Given the description of an element on the screen output the (x, y) to click on. 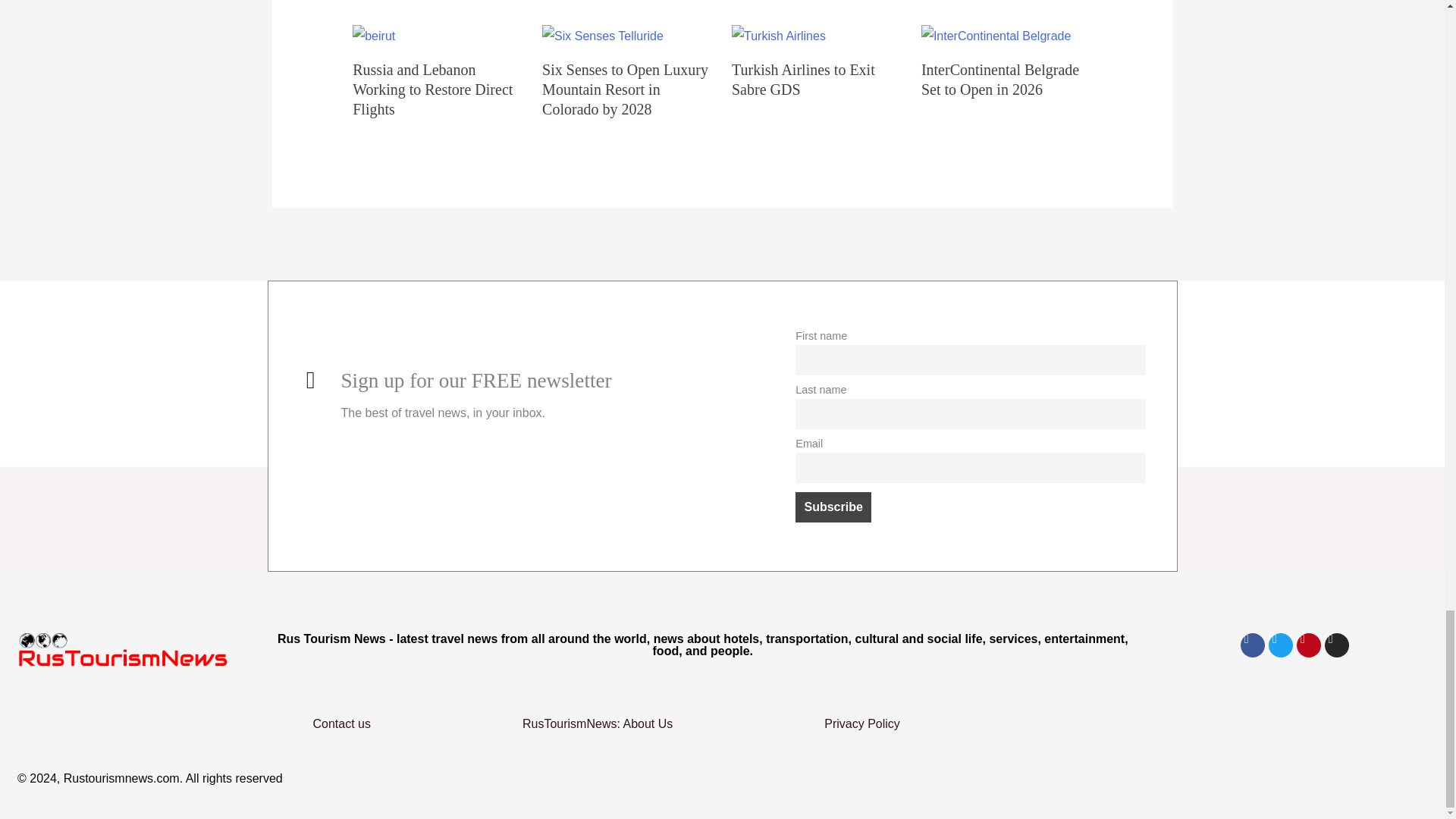
Turkish Airlines to Exit Sabre GDS 11 (778, 36)
Subscribe (832, 507)
Russia and Lebanon Working to Restore Direct Flights 9 (373, 36)
InterContinental Belgrade Set to Open in 2026 12 (995, 36)
